Given the description of an element on the screen output the (x, y) to click on. 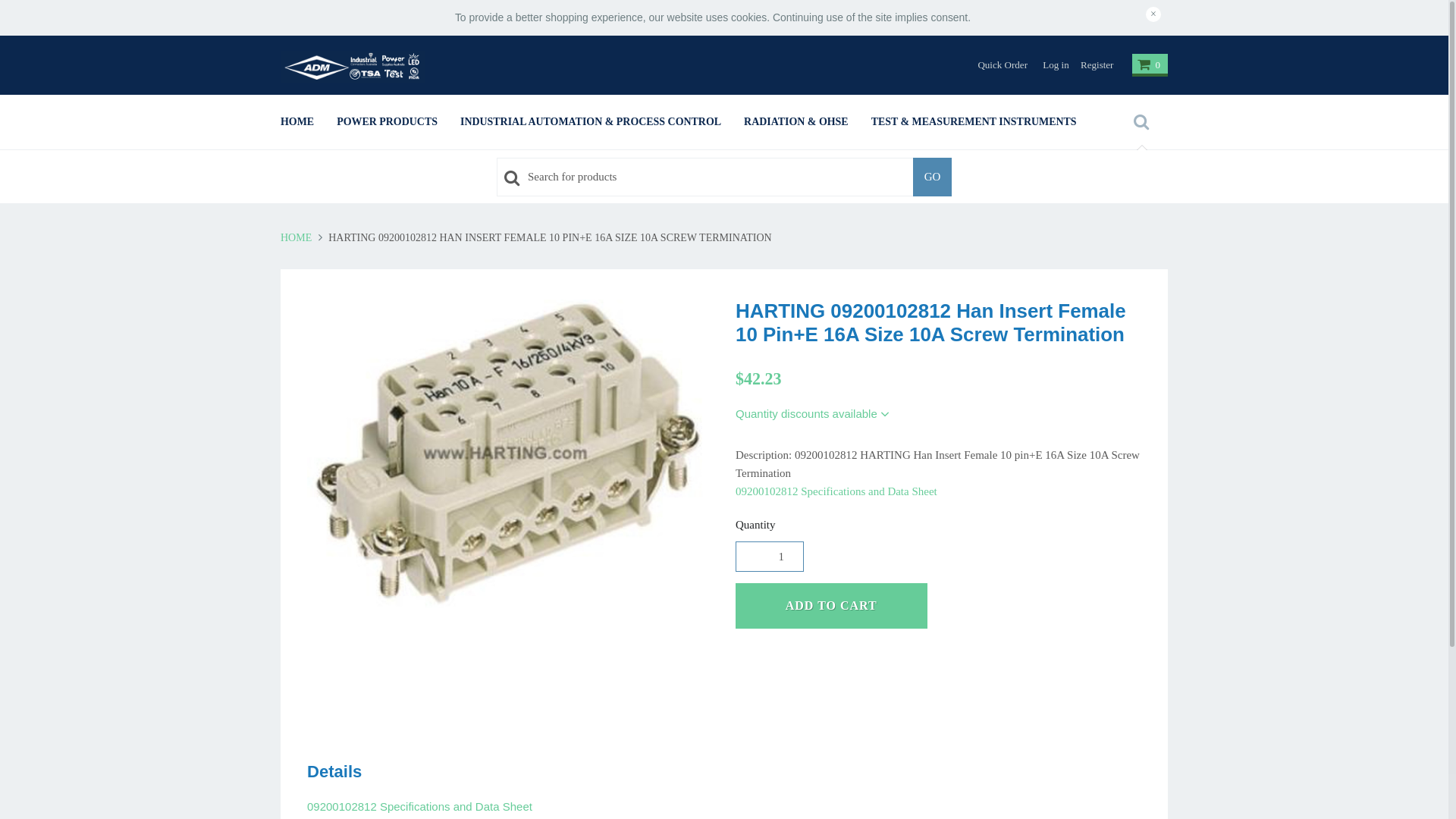
RADIATION & OHSE Element type: text (795, 121)
POWER PRODUCTS Element type: text (386, 121)
TEST & MEASUREMENT INSTRUMENTS Element type: text (973, 121)
ADD TO CART Element type: text (831, 605)
09200102812 Specifications and Data Sheet Element type: text (419, 806)
Register Element type: text (1091, 65)
Quick Order Element type: text (996, 65)
Search Element type: hover (1141, 121)
Quantity discounts available Element type: text (812, 413)
GO Element type: text (932, 176)
ADM SCA Element type: hover (356, 66)
0 Element type: text (1149, 64)
Log in Element type: text (1050, 65)
HOME Element type: text (297, 121)
HOME Element type: text (297, 237)
09200102812 Specifications and Data Sheet Element type: text (836, 491)
INDUSTRIAL AUTOMATION & PROCESS CONTROL Element type: text (590, 121)
